Given the description of an element on the screen output the (x, y) to click on. 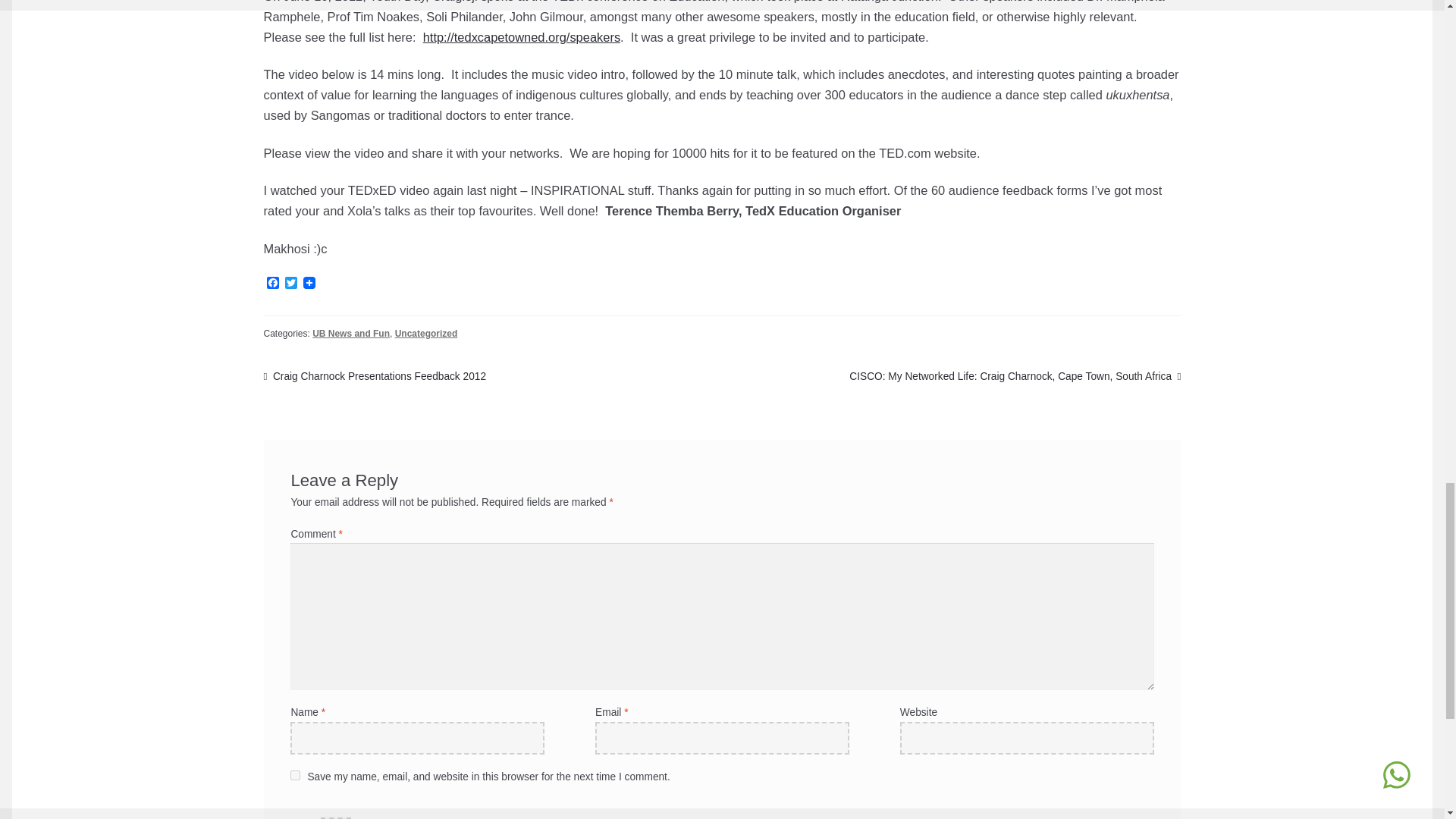
Twitter (290, 282)
yes (294, 775)
Facebook (272, 282)
